Given the description of an element on the screen output the (x, y) to click on. 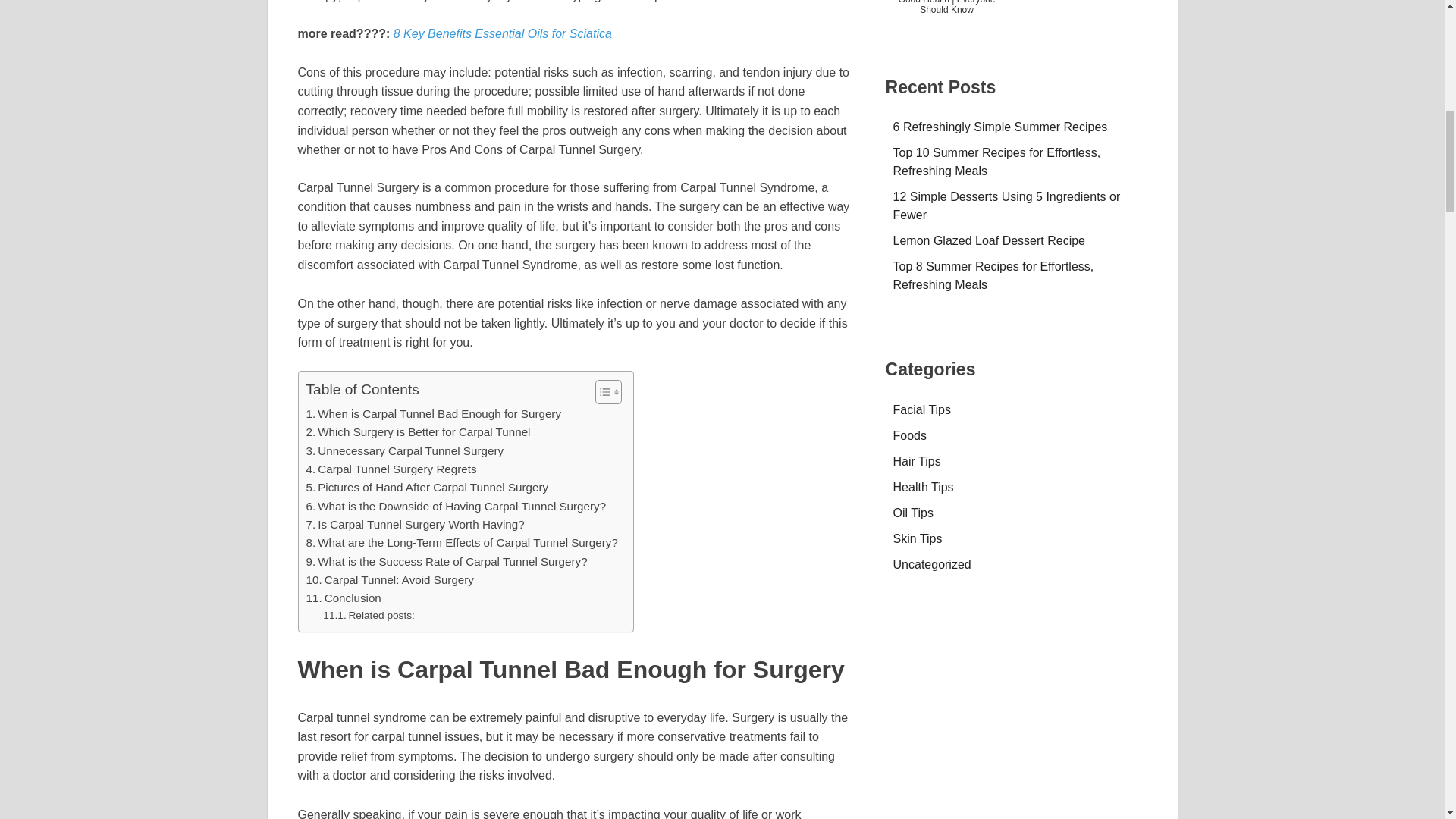
Conclusion (343, 597)
8 Key Benefits Essential Oils for Sciatica (502, 33)
Carpal Tunnel Surgery Regrets (391, 469)
What is the Downside of Having Carpal Tunnel Surgery? (456, 506)
When is Carpal Tunnel Bad Enough for Surgery (433, 413)
Unnecessary Carpal Tunnel Surgery (404, 451)
When is Carpal Tunnel Bad Enough for Surgery (433, 413)
Carpal Tunnel: Avoid Surgery (389, 579)
Pictures of Hand After Carpal Tunnel Surgery (426, 487)
Unnecessary Carpal Tunnel Surgery (404, 451)
Is Carpal Tunnel Surgery Worth Having? (414, 524)
What are the Long-Term Effects of Carpal Tunnel Surgery? (461, 542)
Conclusion (343, 597)
What is the Success Rate of Carpal Tunnel Surgery? (446, 561)
Pictures of Hand After Carpal Tunnel Surgery (426, 487)
